Given the description of an element on the screen output the (x, y) to click on. 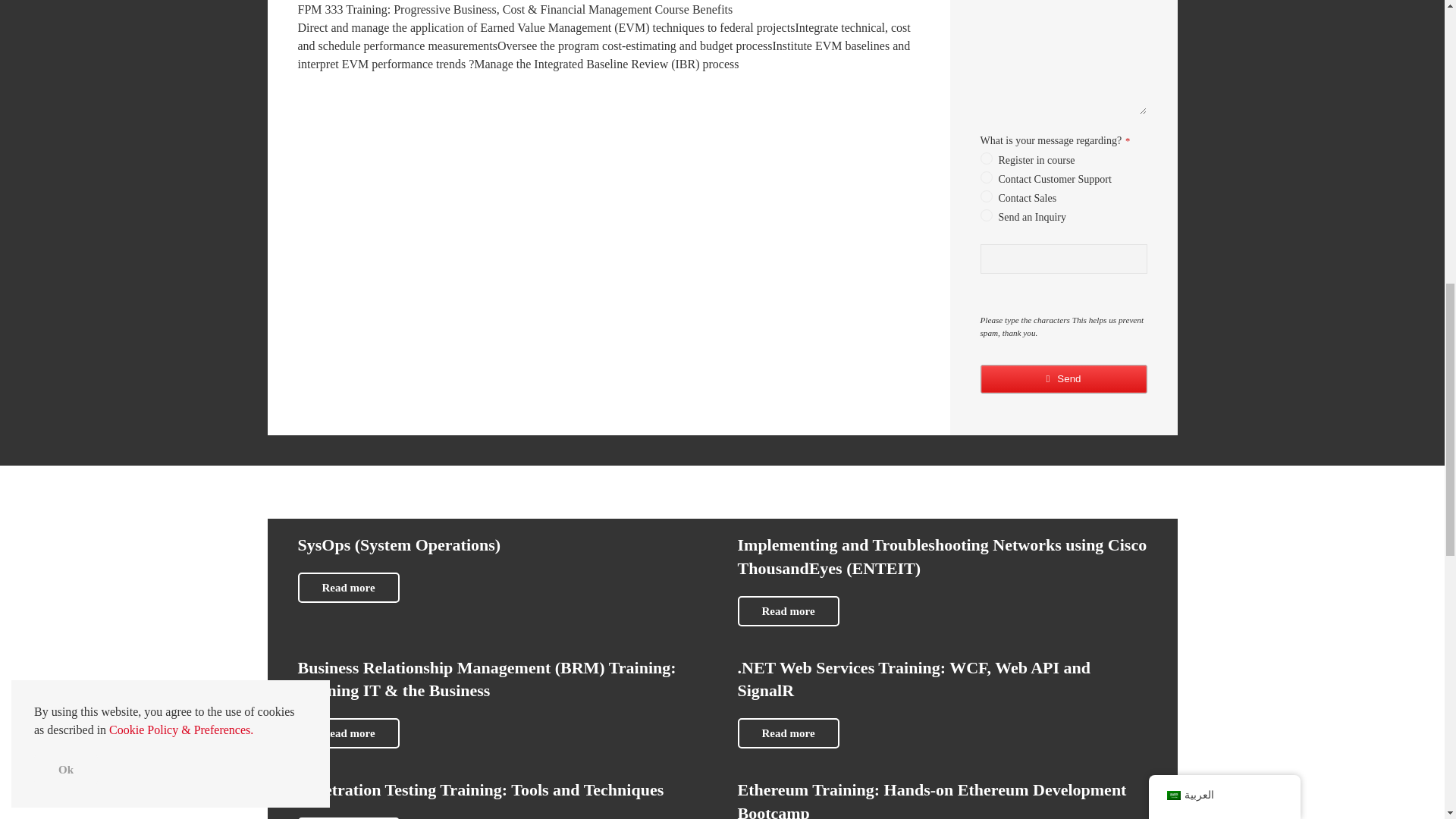
Read more (787, 733)
Contact Sales (985, 196)
Send an Inquiry (985, 215)
Read more (787, 611)
Read more (347, 587)
Read more (347, 733)
Contact Customer Support (985, 177)
Register in course (985, 158)
Send (1063, 378)
